Given the description of an element on the screen output the (x, y) to click on. 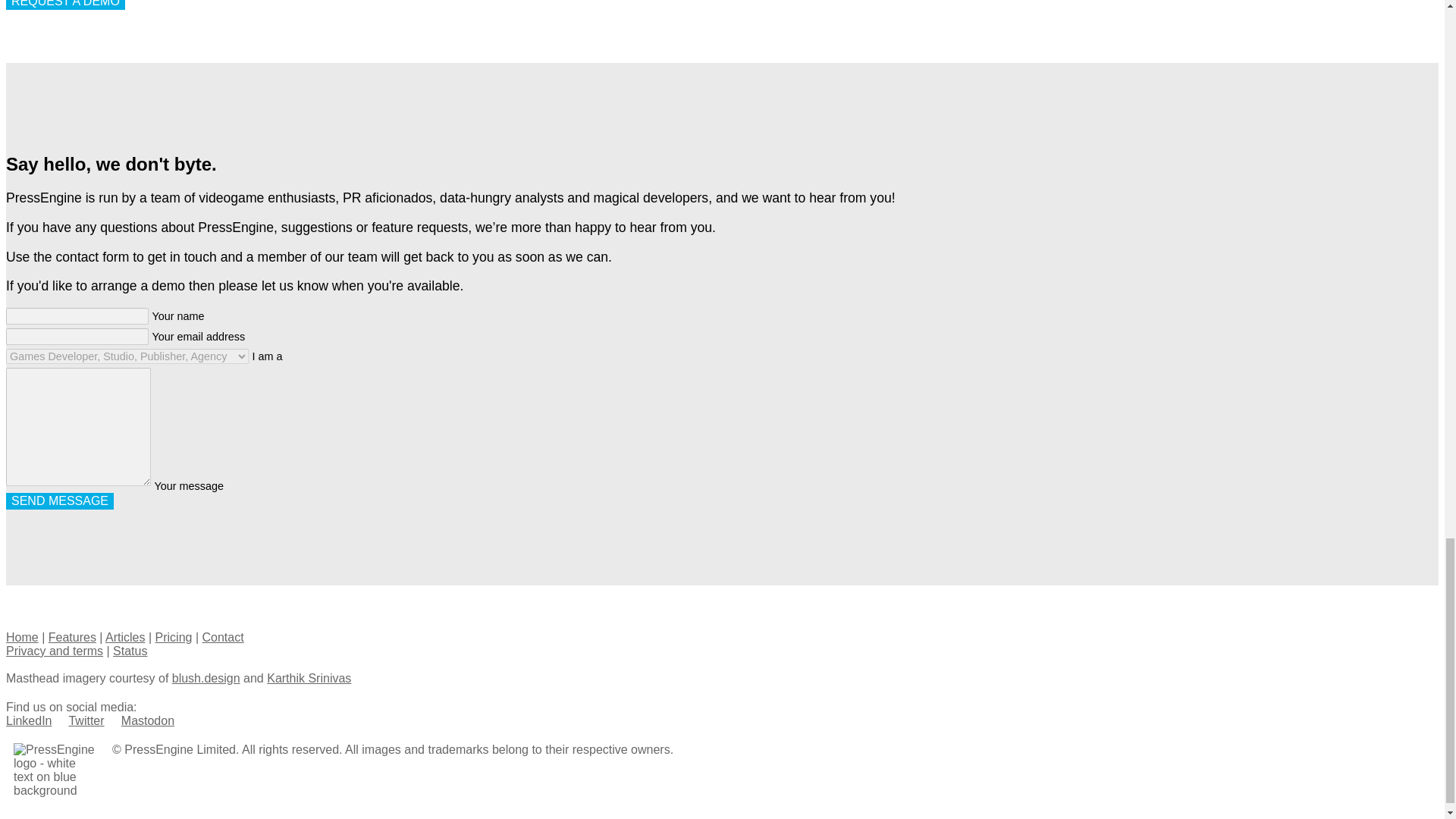
Privacy and terms (54, 650)
Status (130, 650)
Home (22, 636)
Mastodon (147, 720)
SEND MESSAGE (59, 501)
Karthik Srinivas (308, 677)
Contact (222, 636)
Twitter (85, 720)
Features (72, 636)
Pricing (173, 636)
